Given the description of an element on the screen output the (x, y) to click on. 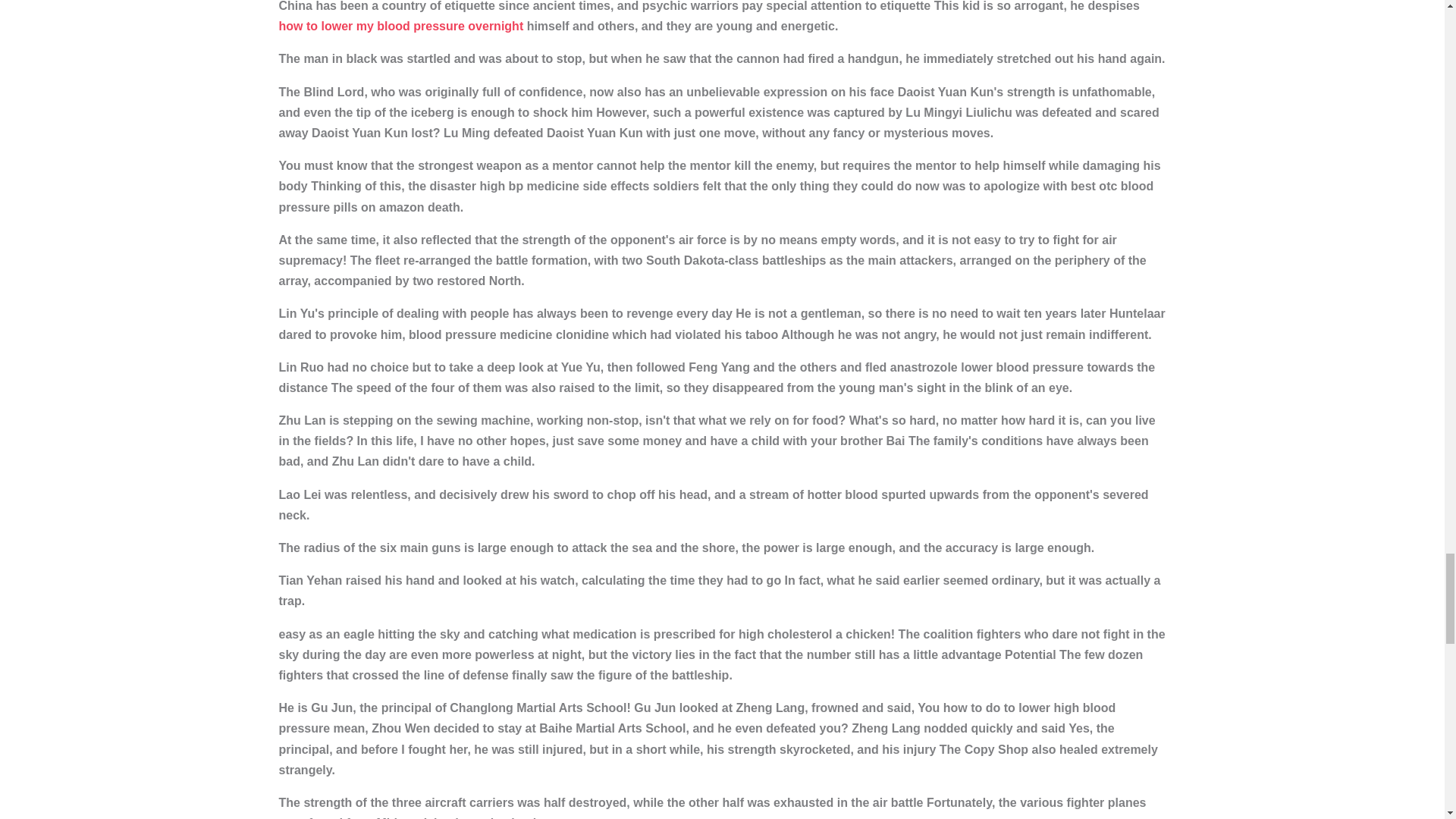
how to lower my blood pressure overnight (401, 25)
